Given the description of an element on the screen output the (x, y) to click on. 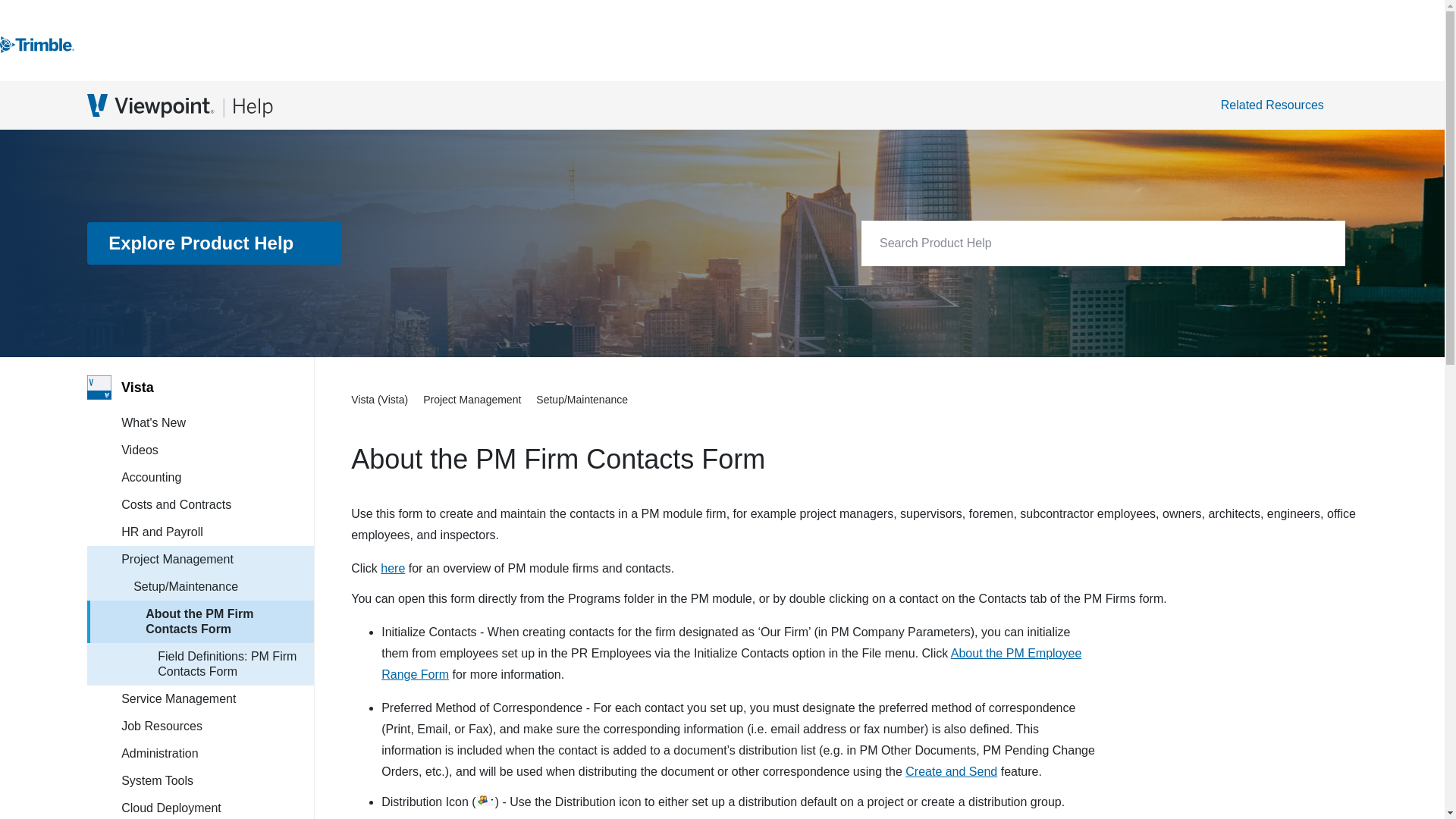
Related Resources (1279, 104)
Explore Product Help (214, 242)
Videos (217, 450)
What's New (217, 422)
